Given the description of an element on the screen output the (x, y) to click on. 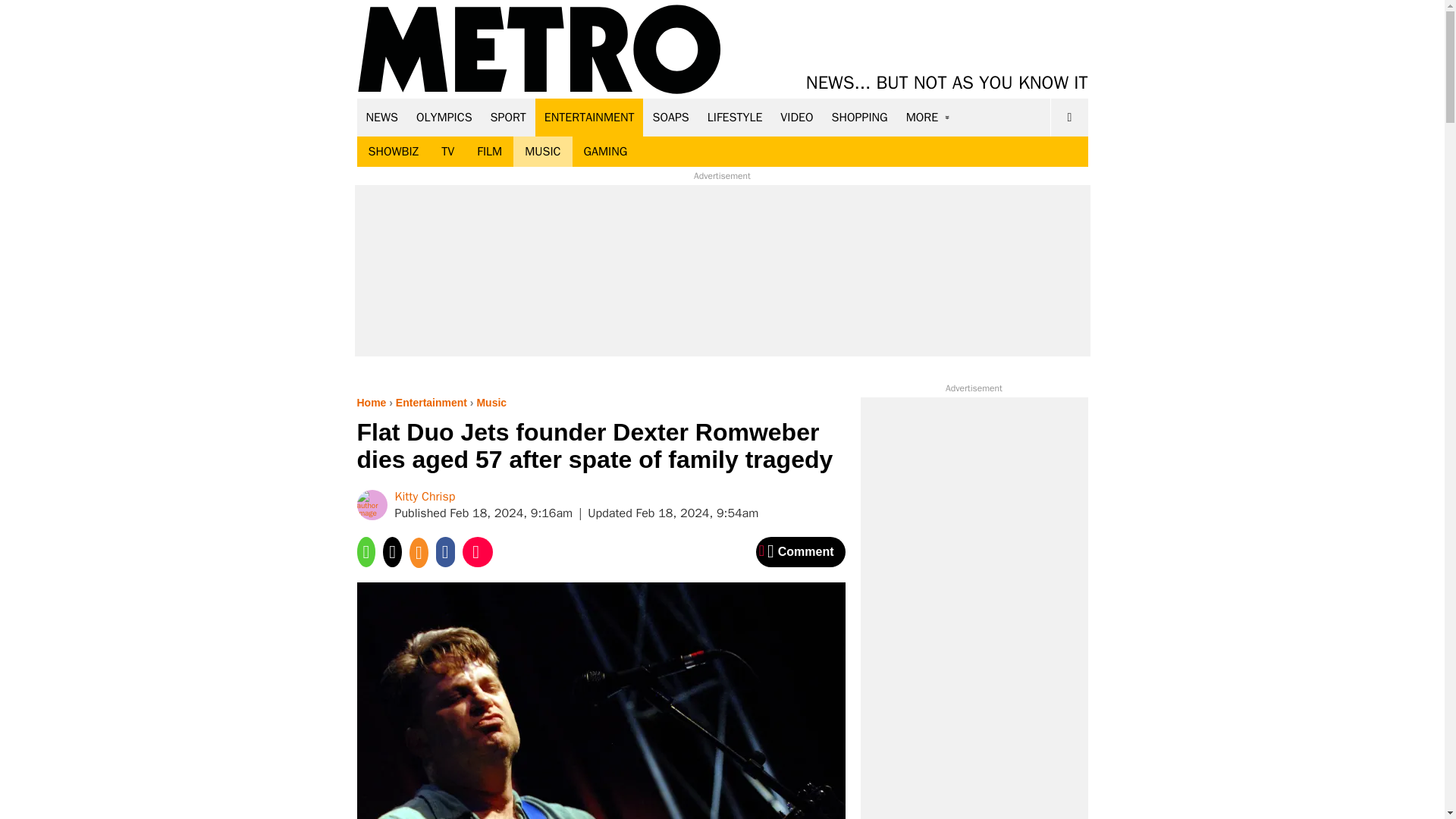
SOAPS (670, 117)
SPORT (508, 117)
GAMING (605, 151)
TV (447, 151)
MUSIC (542, 151)
Metro (539, 50)
LIFESTYLE (734, 117)
NEWS (381, 117)
ENTERTAINMENT (589, 117)
SHOWBIZ (392, 151)
FILM (489, 151)
OLYMPICS (444, 117)
